Given the description of an element on the screen output the (x, y) to click on. 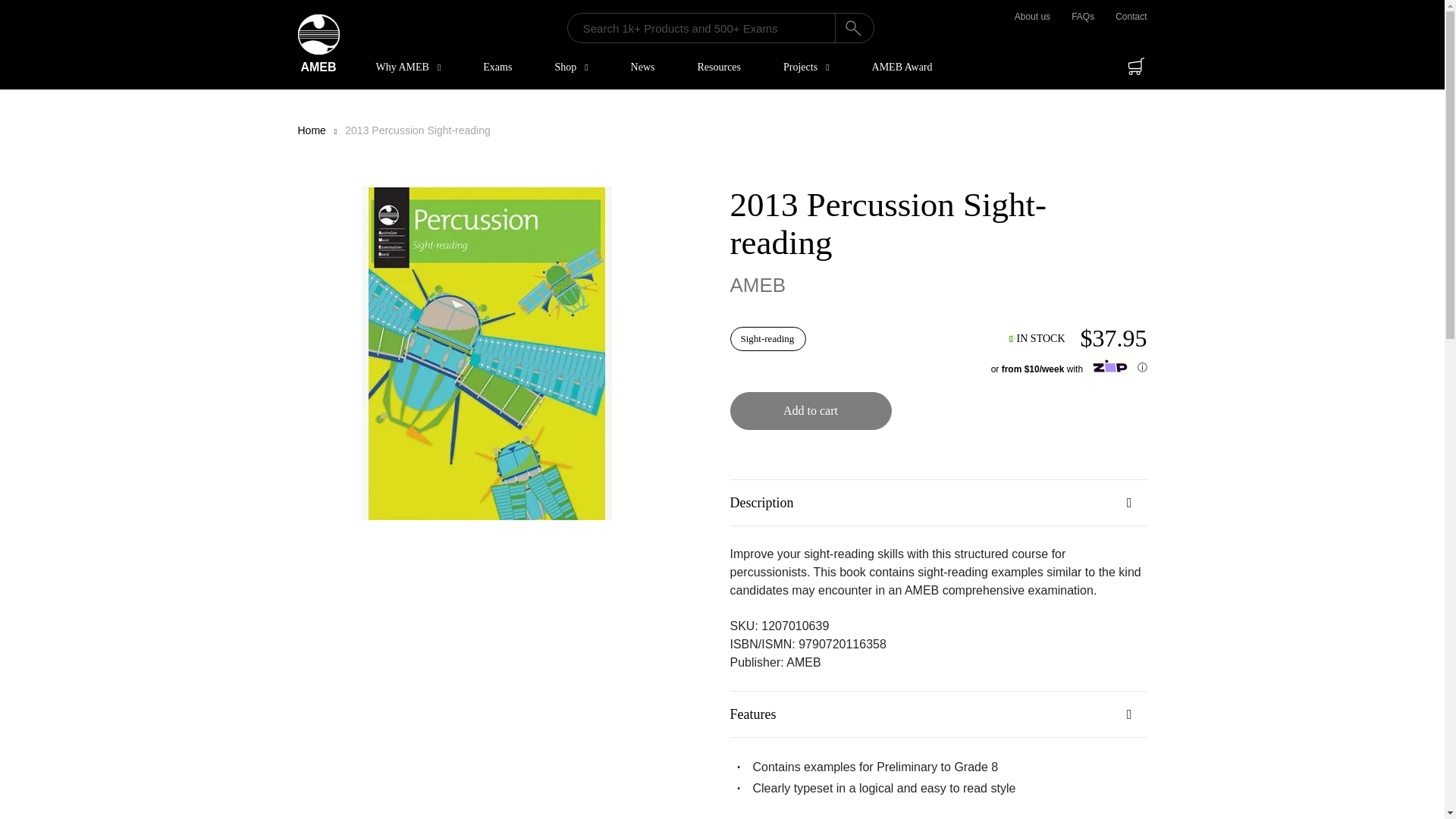
FAQs (1082, 16)
Shop (570, 67)
Go to Home Page (310, 130)
About us (1031, 16)
Search (854, 28)
Contact (1131, 16)
Why AMEB (409, 67)
Exams (496, 67)
Availability (1036, 338)
Search (854, 28)
Add to cart (810, 410)
